Given the description of an element on the screen output the (x, y) to click on. 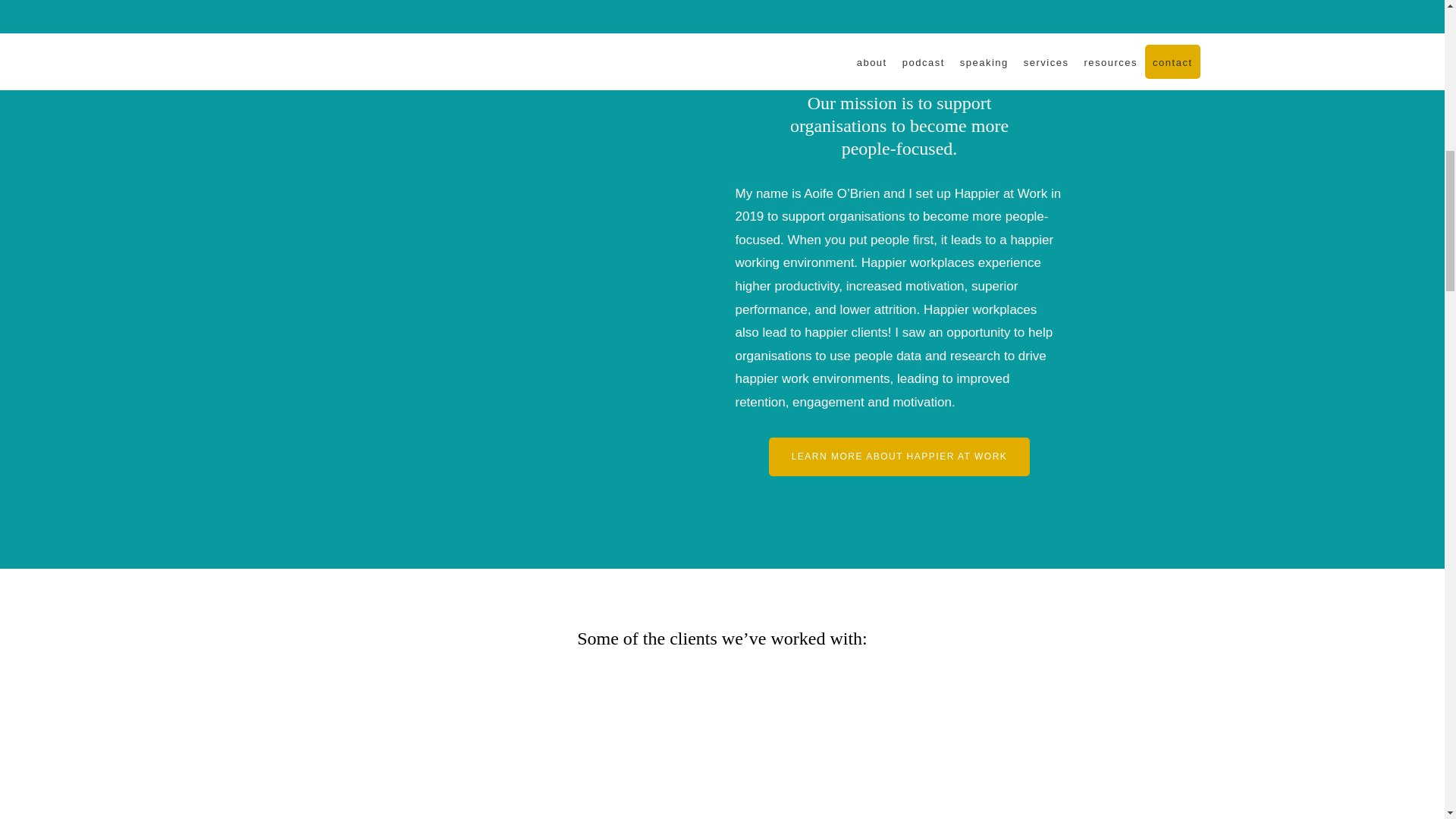
LEARN MORE ABOUT HAPPIER AT WORK (899, 456)
